Given the description of an element on the screen output the (x, y) to click on. 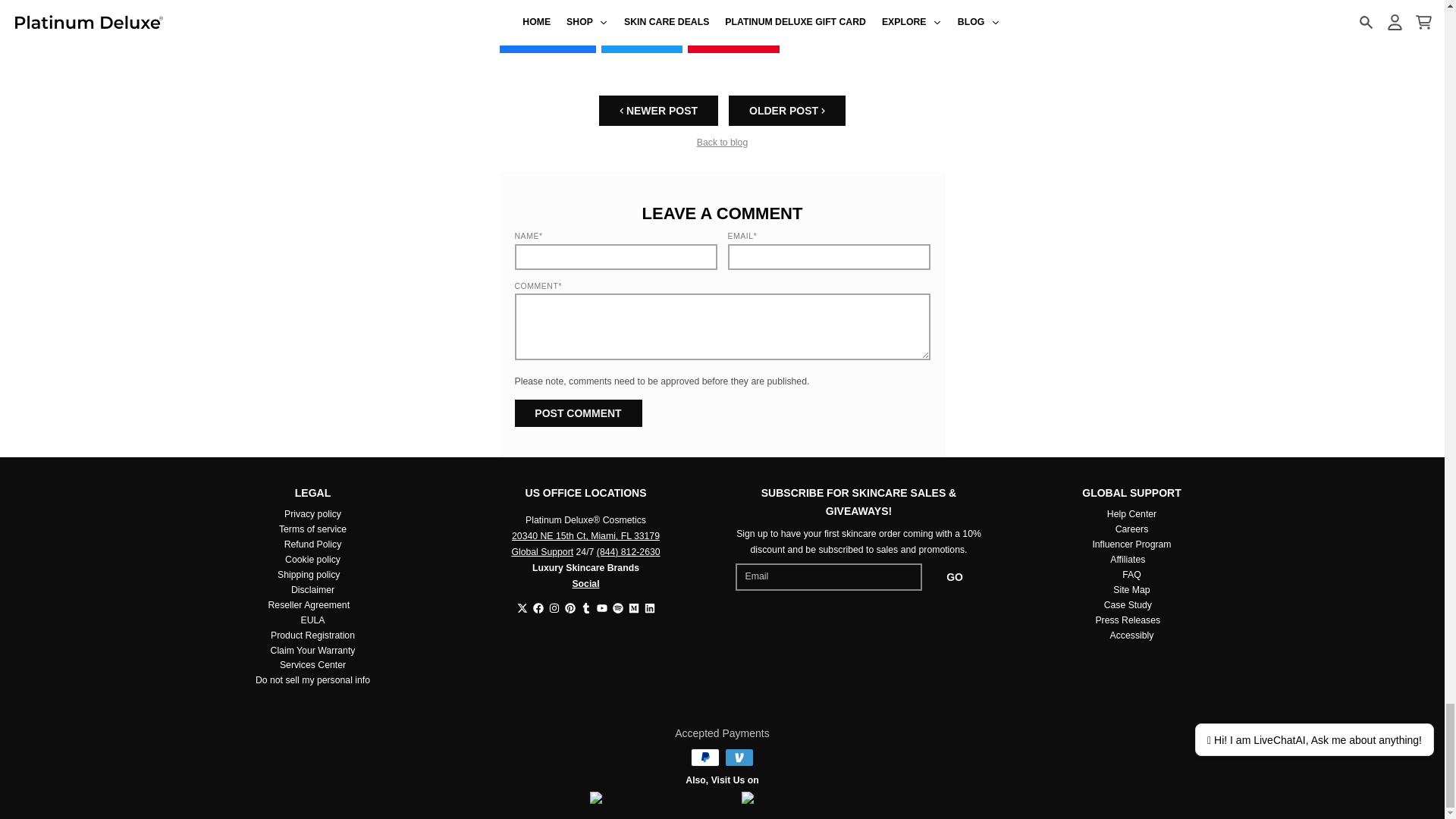
Post comment (577, 412)
LinkedIn - Platinum Deluxe Cosmetics (650, 607)
Medium - Platinum Deluxe Cosmetics (633, 607)
Twitter - Platinum Deluxe Cosmetics (521, 607)
Spotify - Platinum Deluxe Cosmetics (617, 607)
YouTube - Platinum Deluxe Cosmetics (601, 607)
Pinterest - Platinum Deluxe Cosmetics (569, 607)
Facebook - Platinum Deluxe Cosmetics (537, 607)
Tumblr - Platinum Deluxe Cosmetics (585, 607)
Instagram - Platinum Deluxe Cosmetics (553, 607)
